Given the description of an element on the screen output the (x, y) to click on. 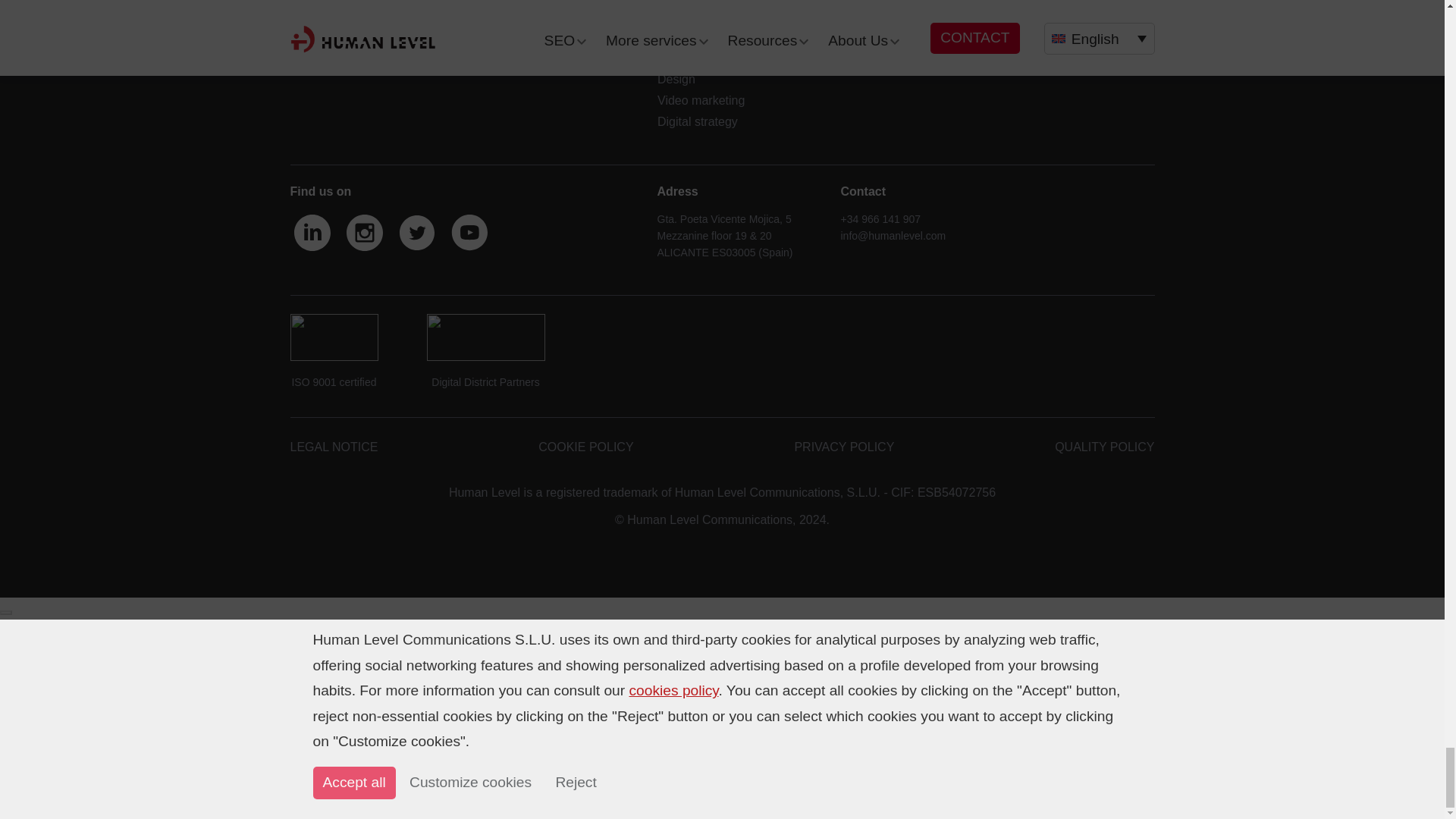
Linkedin (311, 233)
Instagram (365, 233)
